Given the description of an element on the screen output the (x, y) to click on. 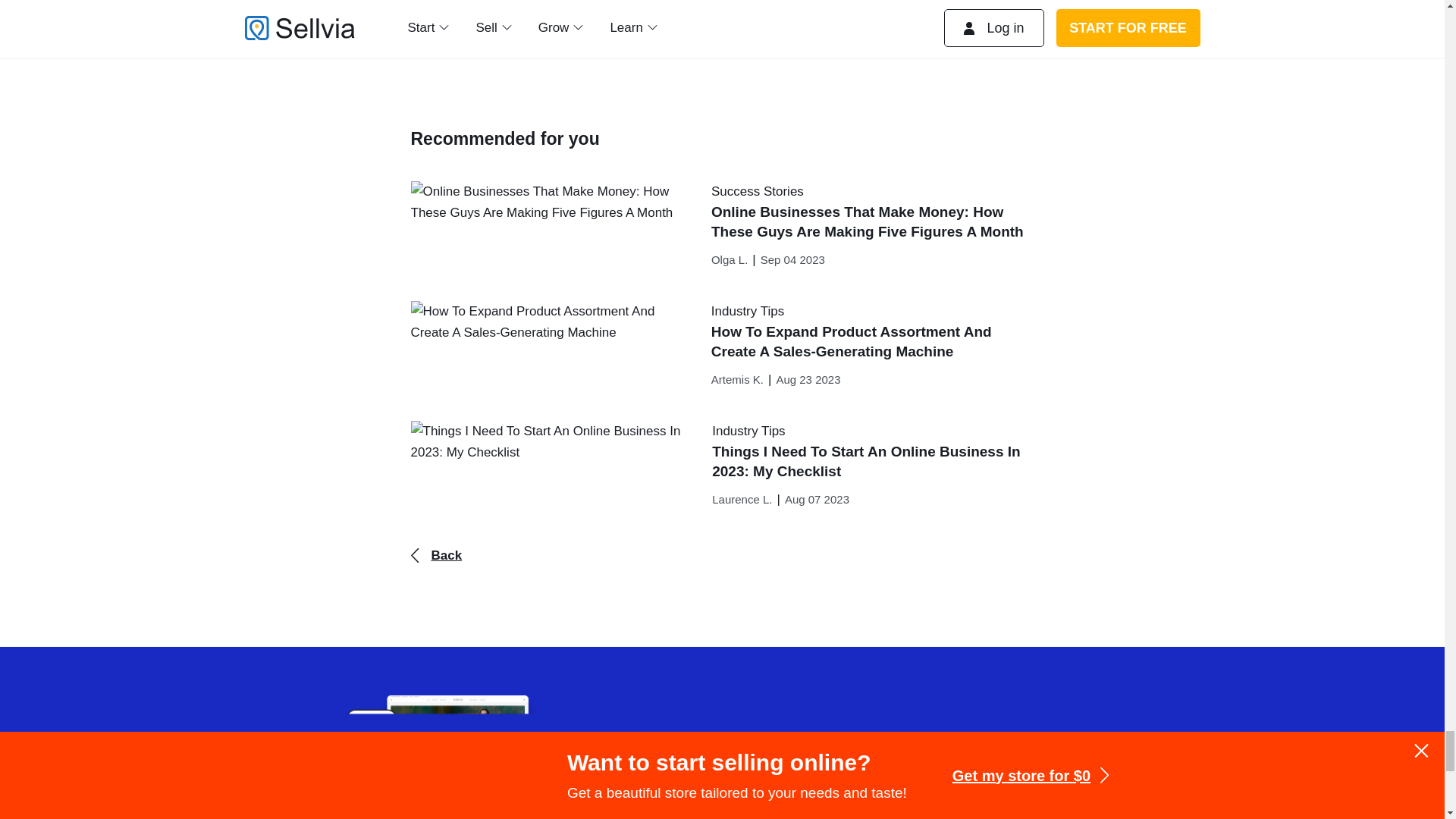
Share with Twitter (456, 33)
Share with Facebook (418, 33)
Share with LinkedIn (494, 33)
